Given the description of an element on the screen output the (x, y) to click on. 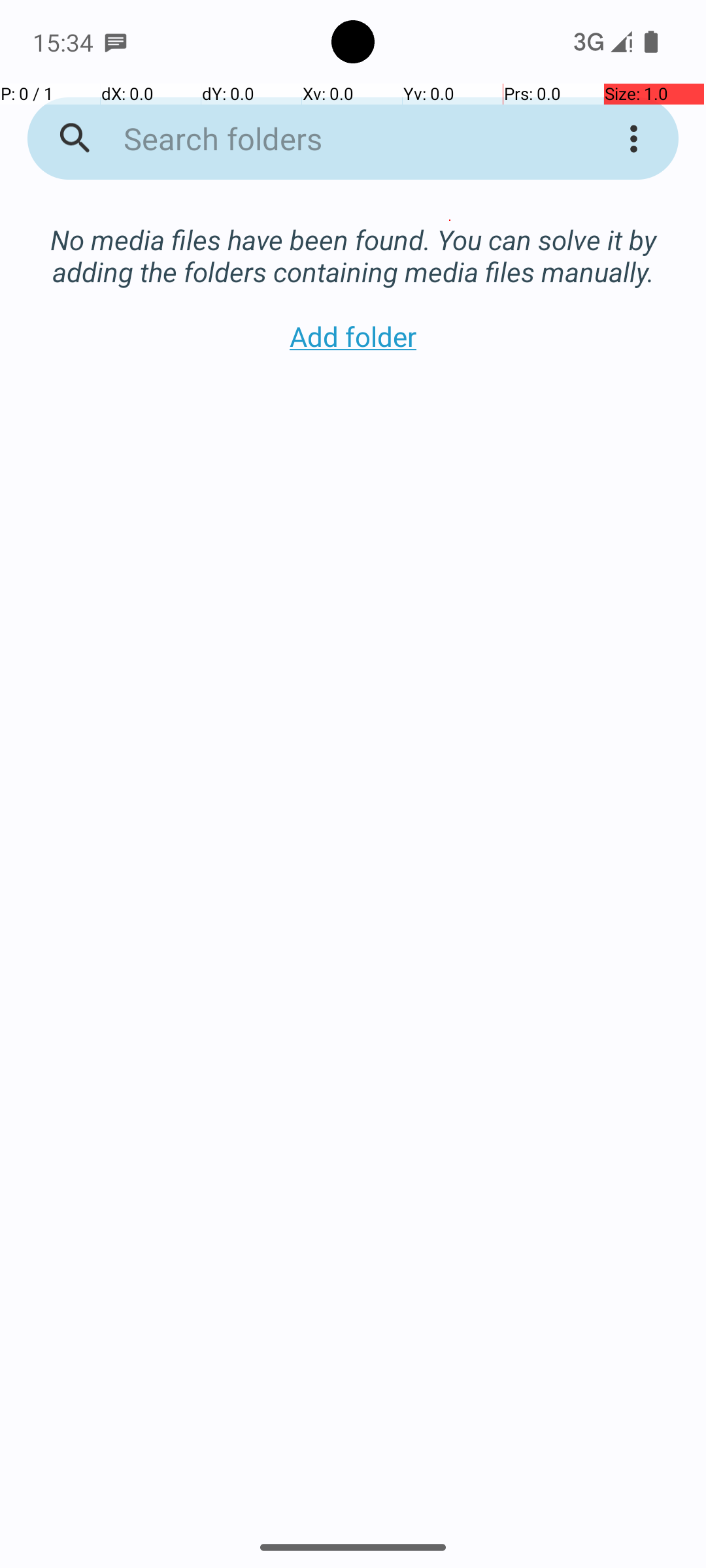
No media files have been found. You can solve it by adding the folders containing media files manually. Element type: android.widget.TextView (353, 241)
Add folder Element type: android.widget.TextView (352, 336)
Search folders Element type: android.widget.EditText (335, 138)
